Given the description of an element on the screen output the (x, y) to click on. 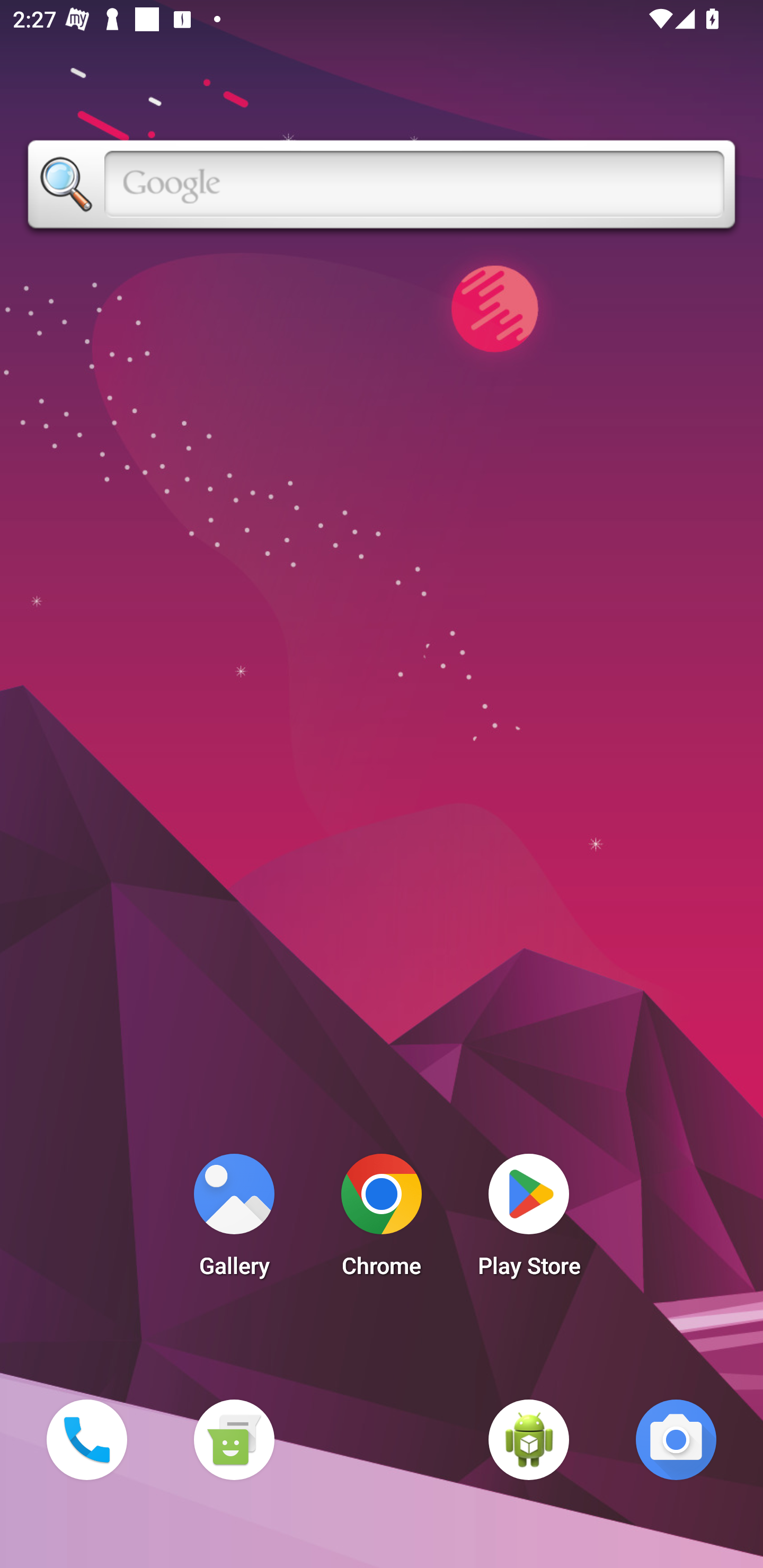
Gallery (233, 1220)
Chrome (381, 1220)
Play Store (528, 1220)
Phone (86, 1439)
Messaging (233, 1439)
WebView Browser Tester (528, 1439)
Camera (676, 1439)
